Given the description of an element on the screen output the (x, y) to click on. 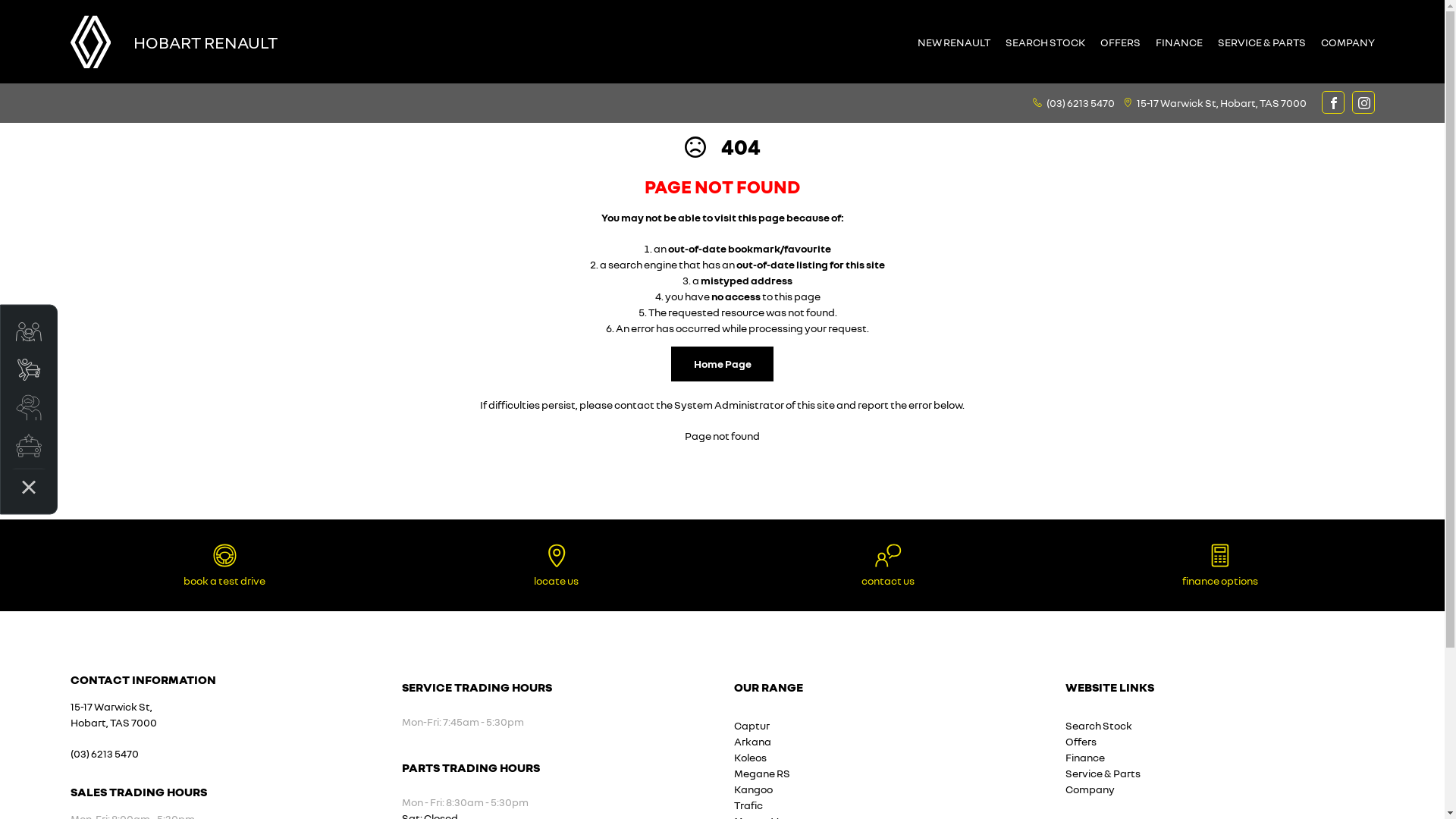
OFFERS Element type: text (1119, 41)
SEARCH STOCK Element type: text (1044, 41)
Home Page Element type: text (722, 363)
Offers Element type: text (1080, 740)
Company Element type: text (1089, 788)
NEW RENAULT Element type: text (953, 41)
Search Stock Element type: text (1098, 724)
Koleos Element type: text (750, 756)
Kangoo Element type: text (753, 788)
Finance Element type: text (1084, 756)
Megane RS Element type: text (762, 772)
locate us Element type: text (556, 565)
FINANCE Element type: text (1179, 41)
Captur Element type: text (751, 724)
(03) 6213 5470 Element type: text (1080, 101)
Trafic Element type: text (748, 804)
Arkana Element type: text (752, 740)
SERVICE & PARTS Element type: text (1261, 41)
(03) 6213 5470 Element type: text (103, 752)
15-17 Warwick St,
Hobart, TAS 7000 Element type: text (112, 713)
finance options Element type: text (1219, 565)
Service & Parts Element type: text (1102, 772)
COMPANY Element type: text (1343, 41)
contact us Element type: text (888, 565)
15-17 Warwick St, Hobart, TAS 7000 Element type: text (1220, 101)
book a test drive Element type: text (224, 565)
HOBART RENAULT Element type: text (205, 41)
